Given the description of an element on the screen output the (x, y) to click on. 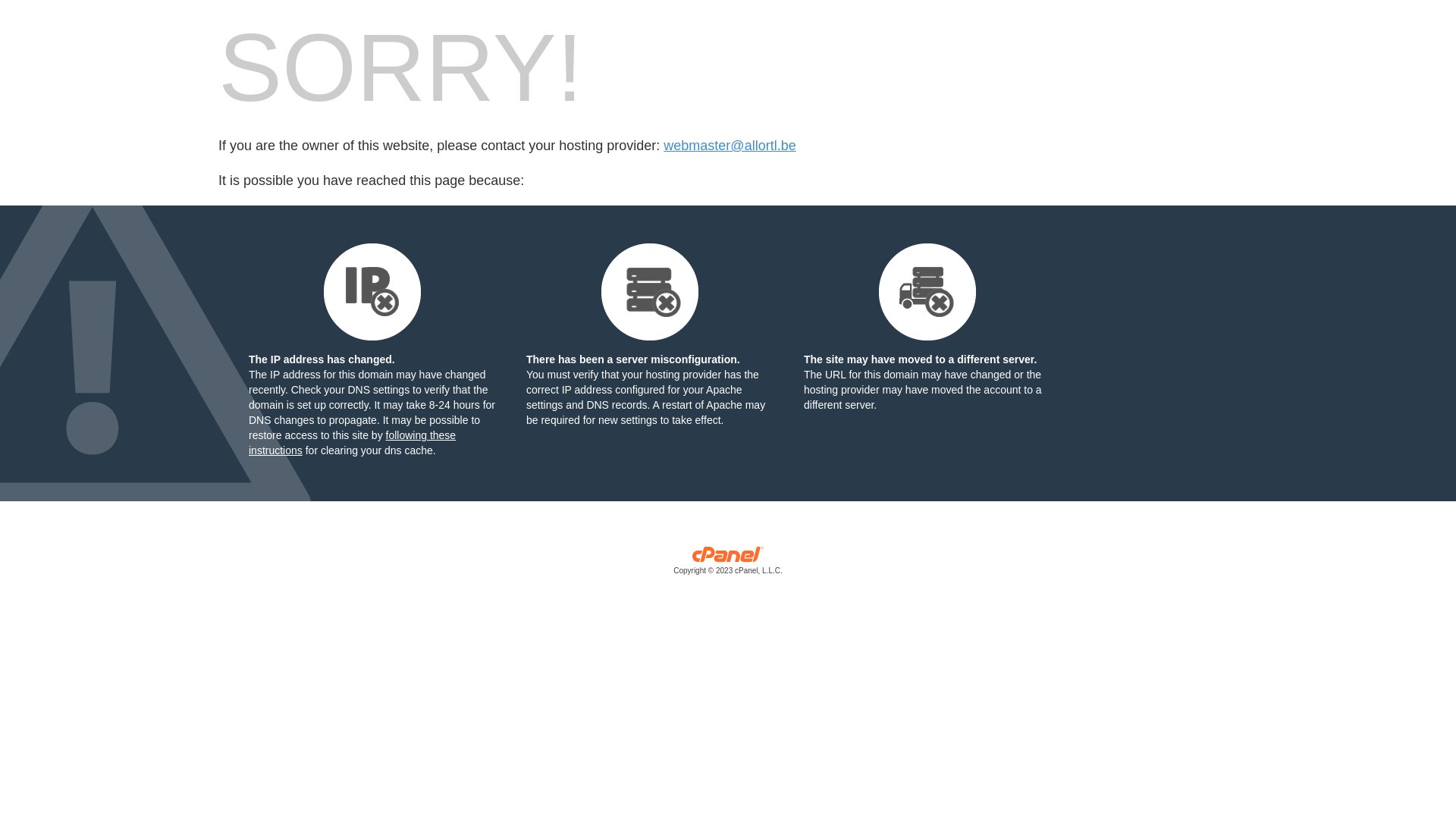
webmaster@allortl.be Element type: text (729, 145)
following these instructions Element type: text (351, 442)
